Given the description of an element on the screen output the (x, y) to click on. 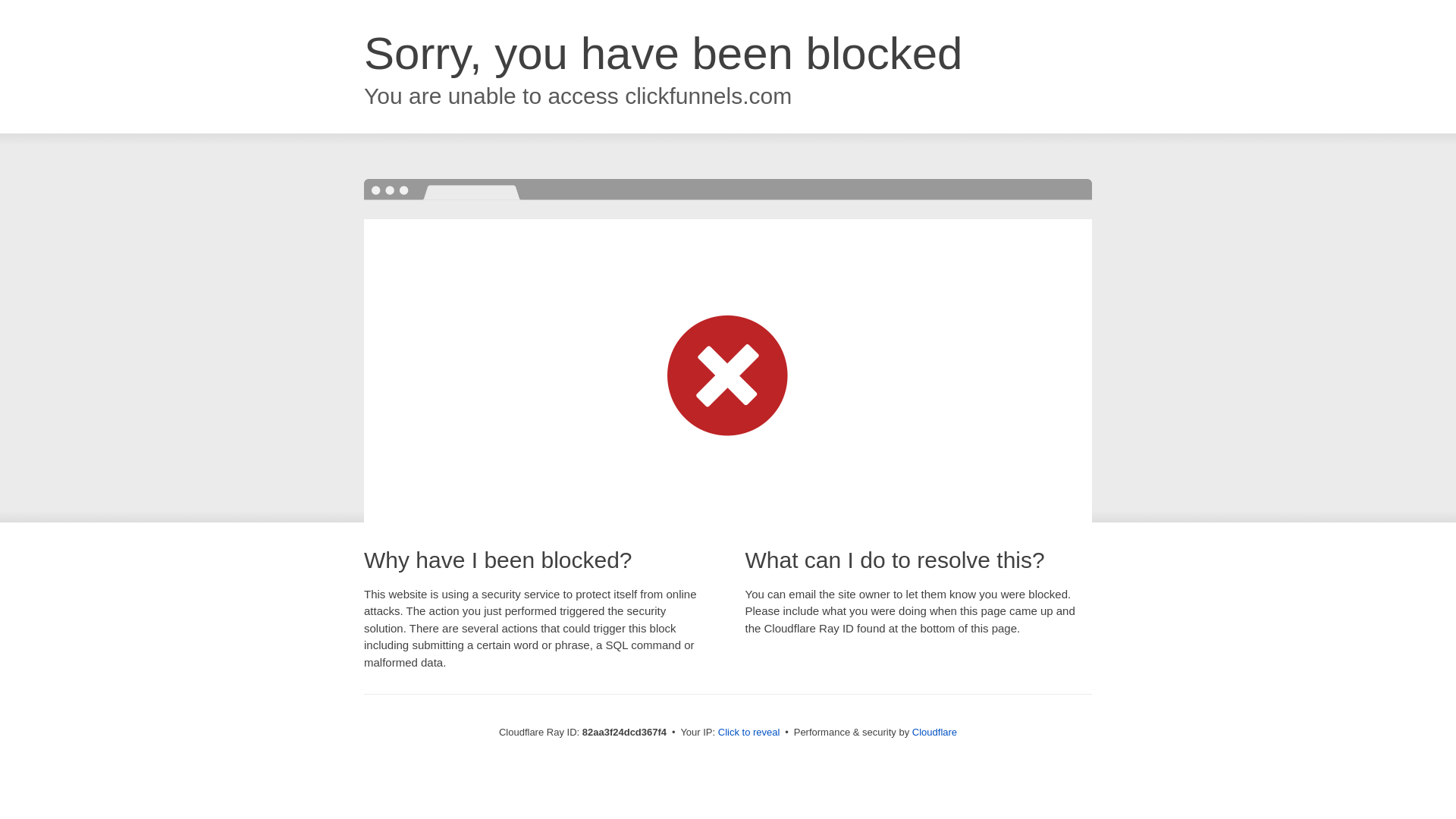
Click to reveal Element type: text (749, 732)
Cloudflare Element type: text (934, 731)
